Given the description of an element on the screen output the (x, y) to click on. 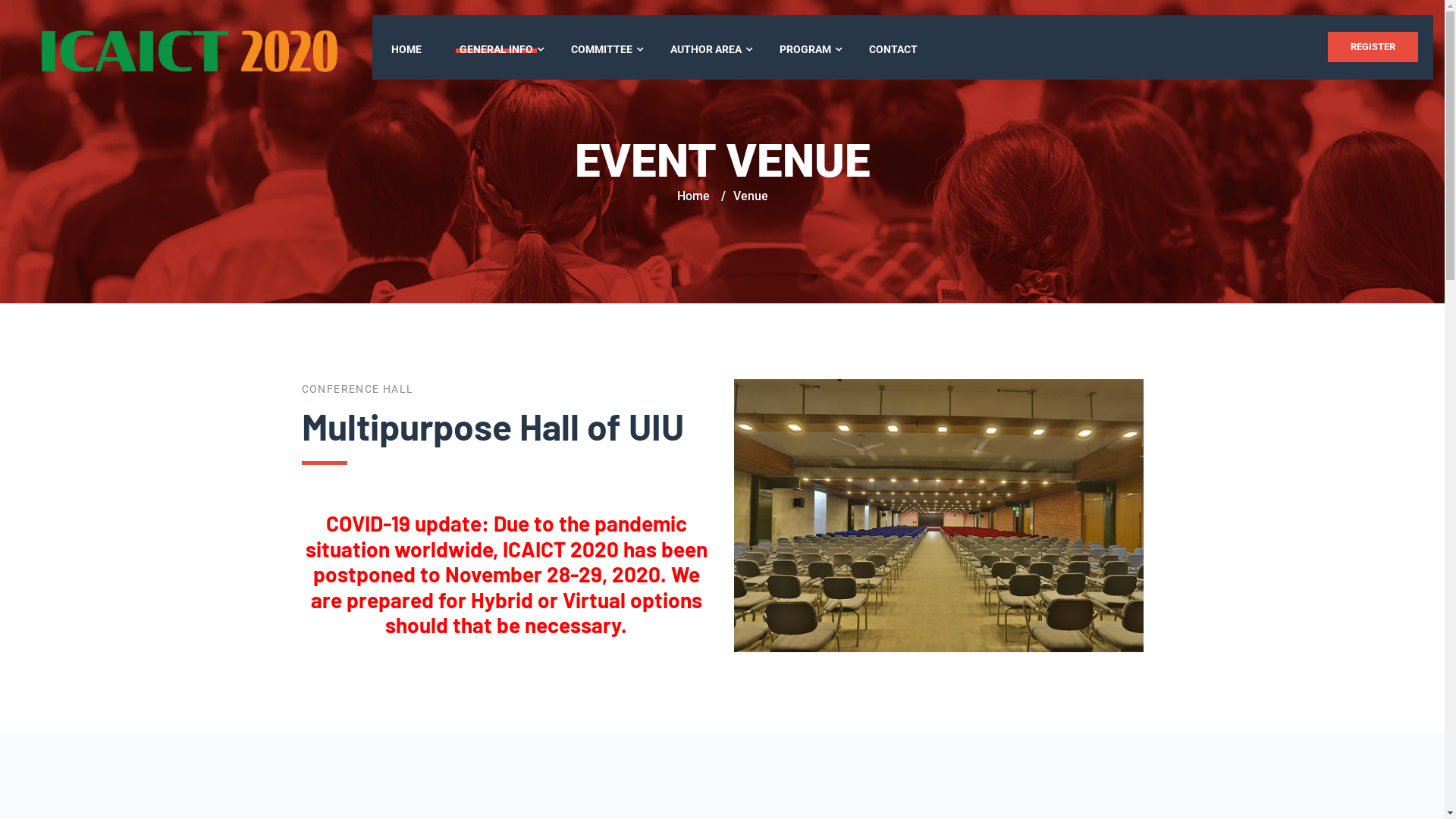
REGISTER Element type: text (1372, 46)
GENERAL INFO Element type: text (495, 48)
Home Element type: text (692, 195)
HOME Element type: text (406, 48)
AUTHOR AREA Element type: text (705, 48)
PROGRAM Element type: text (804, 48)
COMMITTEE Element type: text (601, 48)
CONTACT Element type: text (893, 48)
